Given the description of an element on the screen output the (x, y) to click on. 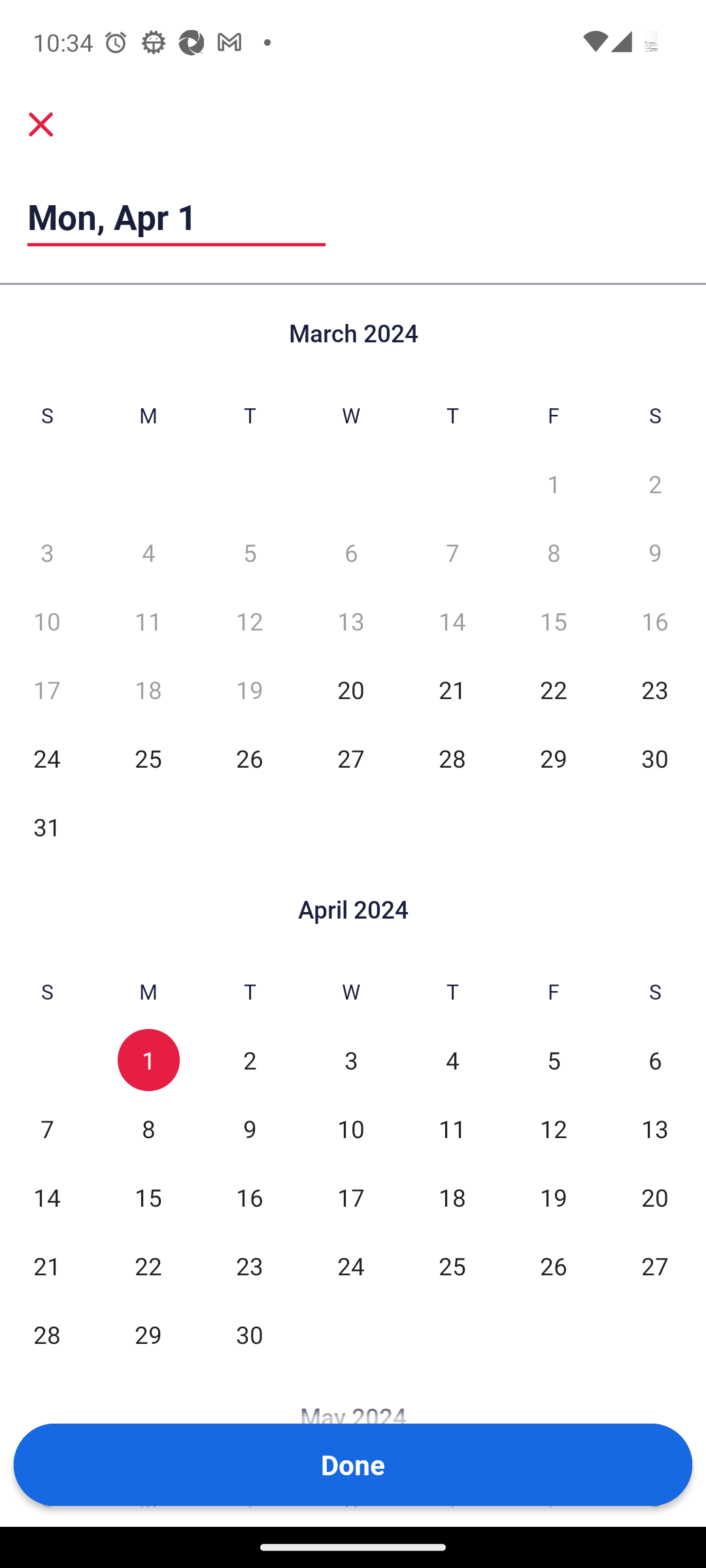
Cancel (41, 124)
Mon, Apr 1 (176, 215)
1 Fri, Mar 1, Not Selected (553, 483)
2 Sat, Mar 2, Not Selected (655, 483)
3 Sun, Mar 3, Not Selected (47, 551)
4 Mon, Mar 4, Not Selected (148, 551)
5 Tue, Mar 5, Not Selected (250, 551)
6 Wed, Mar 6, Not Selected (350, 551)
7 Thu, Mar 7, Not Selected (452, 551)
8 Fri, Mar 8, Not Selected (553, 551)
9 Sat, Mar 9, Not Selected (655, 551)
10 Sun, Mar 10, Not Selected (47, 620)
11 Mon, Mar 11, Not Selected (148, 620)
12 Tue, Mar 12, Not Selected (250, 620)
13 Wed, Mar 13, Not Selected (350, 620)
14 Thu, Mar 14, Not Selected (452, 620)
15 Fri, Mar 15, Not Selected (553, 620)
16 Sat, Mar 16, Not Selected (655, 620)
17 Sun, Mar 17, Not Selected (47, 689)
18 Mon, Mar 18, Not Selected (148, 689)
19 Tue, Mar 19, Not Selected (250, 689)
20 Wed, Mar 20, Not Selected (350, 689)
21 Thu, Mar 21, Not Selected (452, 689)
22 Fri, Mar 22, Not Selected (553, 689)
23 Sat, Mar 23, Not Selected (655, 689)
24 Sun, Mar 24, Not Selected (47, 757)
25 Mon, Mar 25, Not Selected (148, 757)
26 Tue, Mar 26, Not Selected (250, 757)
27 Wed, Mar 27, Not Selected (350, 757)
28 Thu, Mar 28, Not Selected (452, 757)
29 Fri, Mar 29, Not Selected (553, 757)
30 Sat, Mar 30, Not Selected (655, 757)
31 Sun, Mar 31, Not Selected (47, 825)
1 Mon, Apr 1, Selected (148, 1059)
2 Tue, Apr 2, Not Selected (250, 1059)
3 Wed, Apr 3, Not Selected (350, 1059)
4 Thu, Apr 4, Not Selected (452, 1059)
5 Fri, Apr 5, Not Selected (553, 1059)
6 Sat, Apr 6, Not Selected (655, 1059)
7 Sun, Apr 7, Not Selected (47, 1128)
8 Mon, Apr 8, Not Selected (148, 1128)
9 Tue, Apr 9, Not Selected (250, 1128)
10 Wed, Apr 10, Not Selected (350, 1128)
11 Thu, Apr 11, Not Selected (452, 1128)
12 Fri, Apr 12, Not Selected (553, 1128)
13 Sat, Apr 13, Not Selected (655, 1128)
14 Sun, Apr 14, Not Selected (47, 1196)
15 Mon, Apr 15, Not Selected (148, 1196)
16 Tue, Apr 16, Not Selected (250, 1196)
17 Wed, Apr 17, Not Selected (350, 1196)
18 Thu, Apr 18, Not Selected (452, 1196)
19 Fri, Apr 19, Not Selected (553, 1196)
20 Sat, Apr 20, Not Selected (655, 1196)
21 Sun, Apr 21, Not Selected (47, 1264)
22 Mon, Apr 22, Not Selected (148, 1264)
23 Tue, Apr 23, Not Selected (250, 1264)
24 Wed, Apr 24, Not Selected (350, 1264)
25 Thu, Apr 25, Not Selected (452, 1264)
26 Fri, Apr 26, Not Selected (553, 1264)
27 Sat, Apr 27, Not Selected (655, 1264)
28 Sun, Apr 28, Not Selected (47, 1333)
29 Mon, Apr 29, Not Selected (148, 1333)
30 Tue, Apr 30, Not Selected (250, 1333)
Done Button Done (352, 1464)
